Given the description of an element on the screen output the (x, y) to click on. 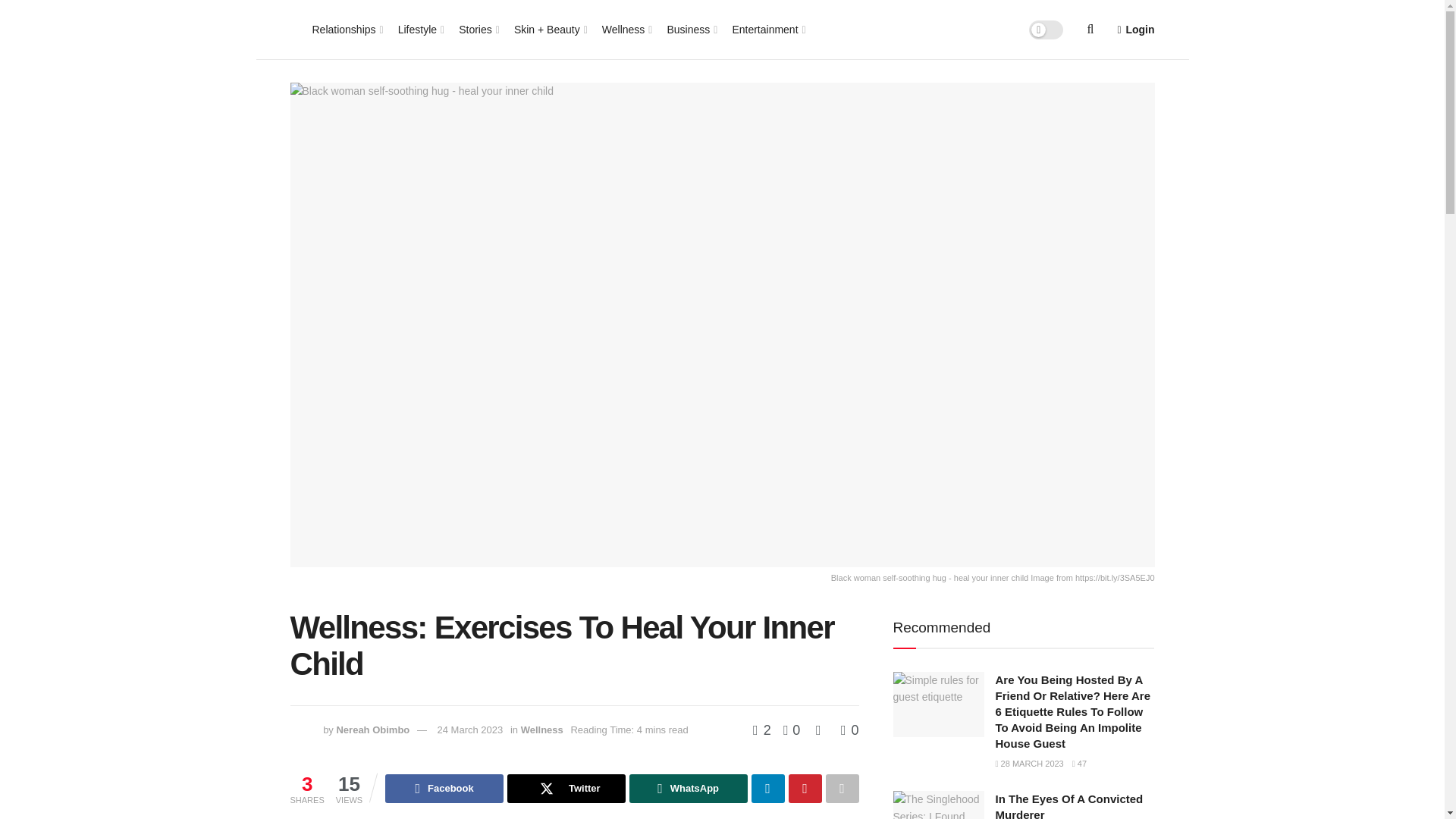
Relationships (347, 29)
Lifestyle (419, 29)
Stories (477, 29)
Entertainment (767, 29)
Business (690, 29)
Wellness (626, 29)
